Given the description of an element on the screen output the (x, y) to click on. 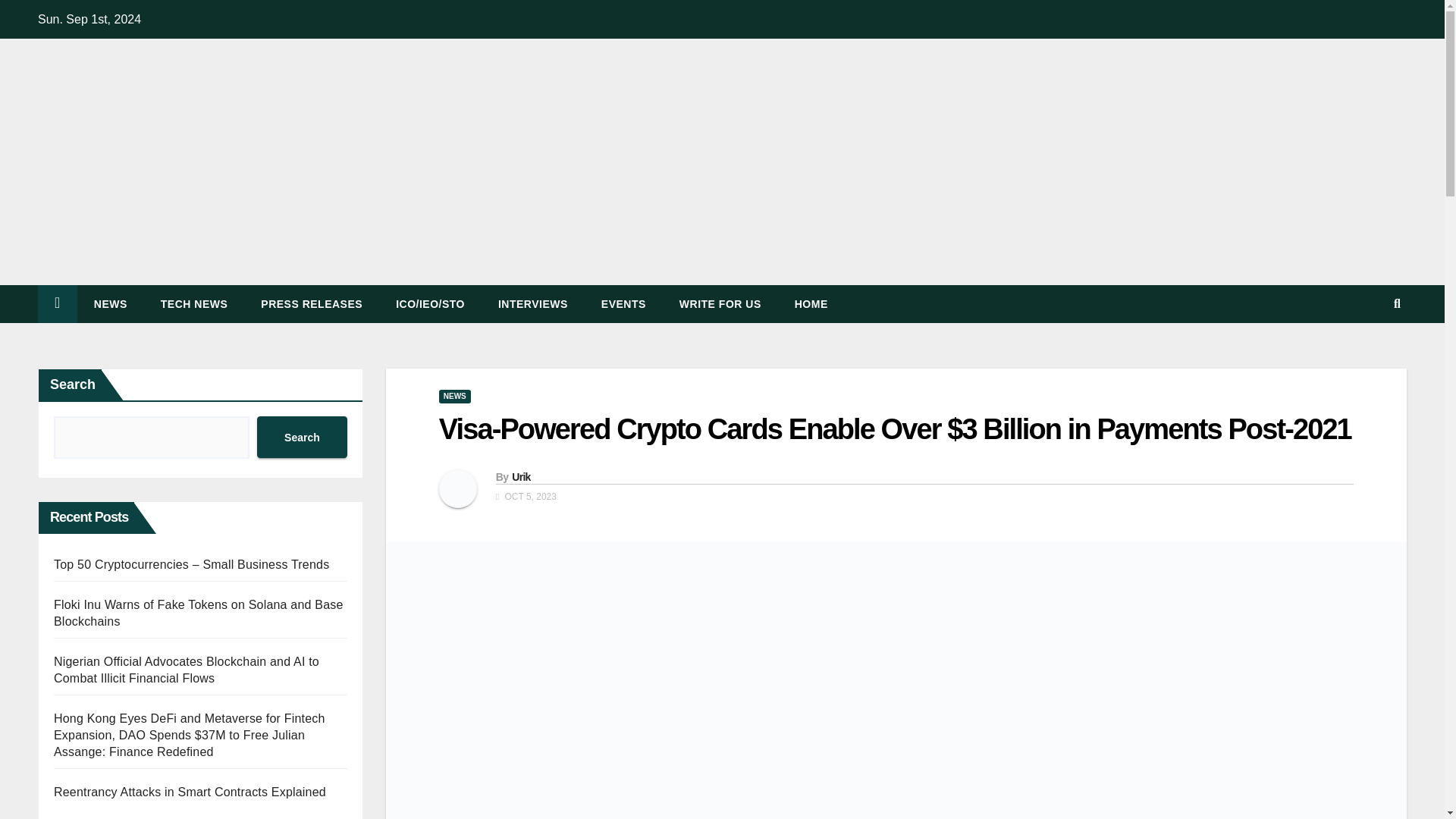
Urik (520, 476)
News (110, 303)
WRITE FOR US (719, 303)
Reentrancy Attacks in Smart Contracts Explained (189, 791)
Write For Us (719, 303)
Tech News (194, 303)
Interviews (533, 303)
NEWS (110, 303)
NEWS (454, 396)
